Given the description of an element on the screen output the (x, y) to click on. 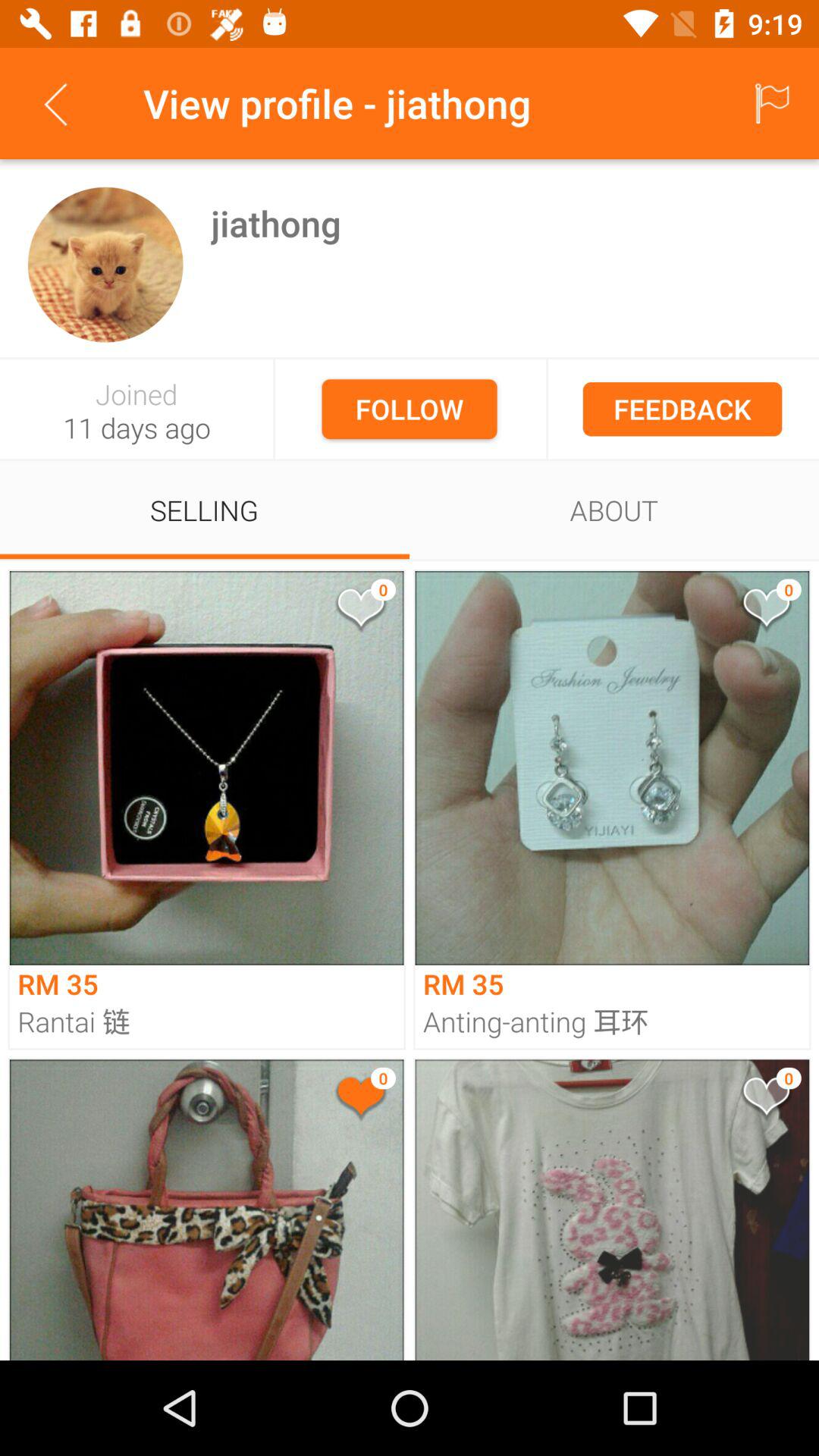
see account info for user (105, 264)
